Given the description of an element on the screen output the (x, y) to click on. 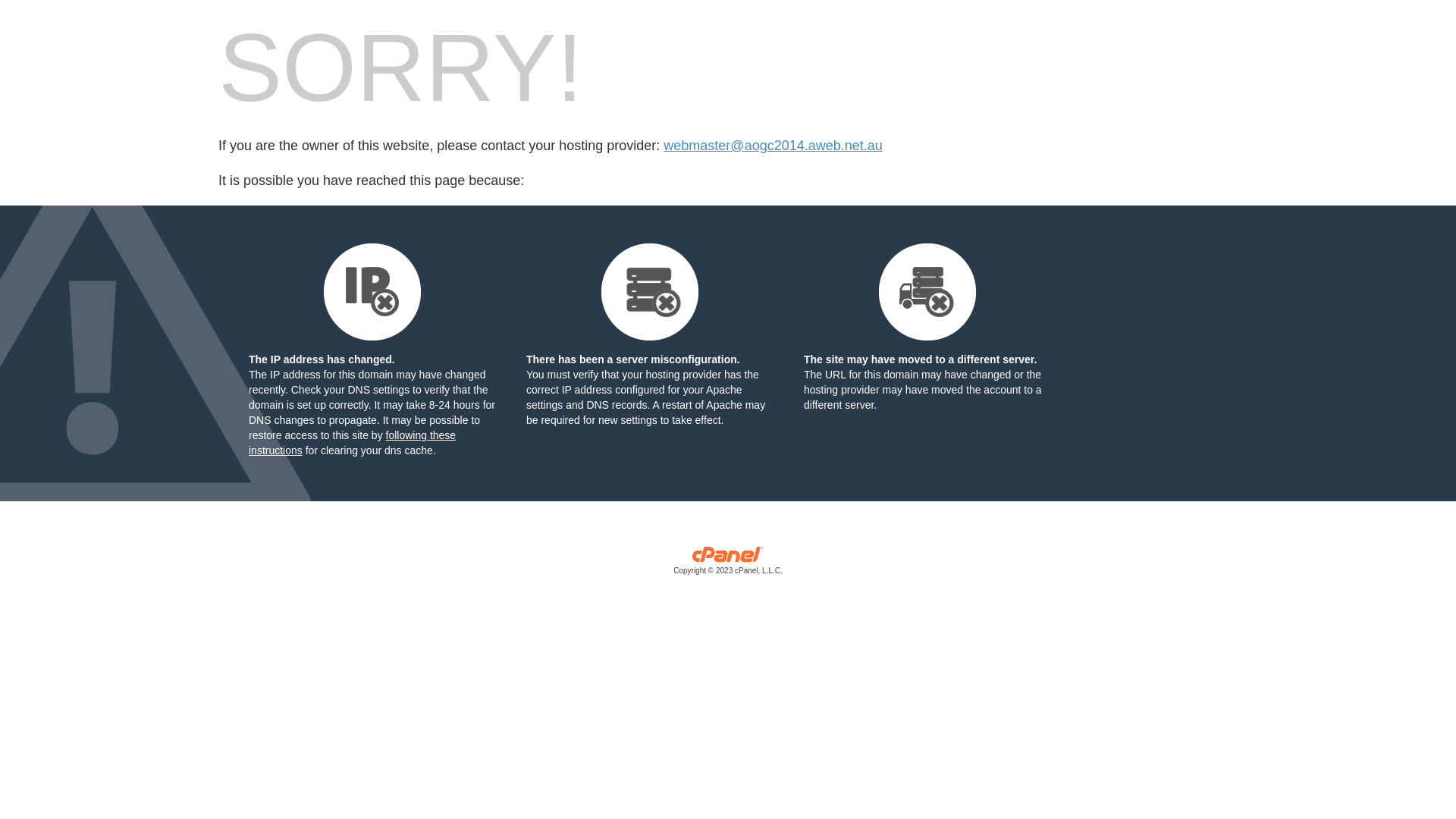
webmaster@aogc2014.aweb.net.au Element type: text (772, 145)
following these instructions Element type: text (351, 442)
